Given the description of an element on the screen output the (x, y) to click on. 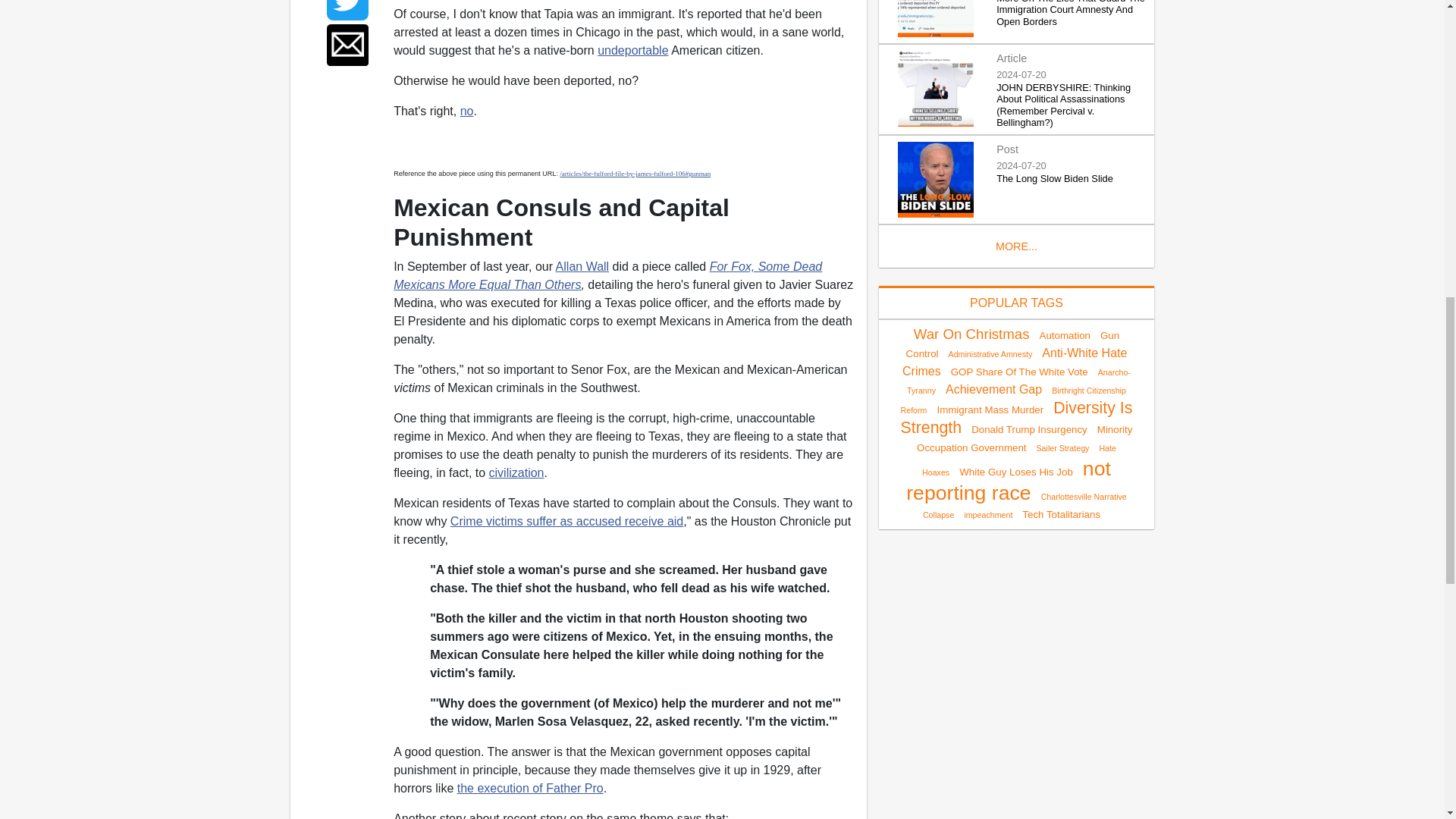
Share to Twitter (347, 10)
Share to Email (347, 45)
